Given the description of an element on the screen output the (x, y) to click on. 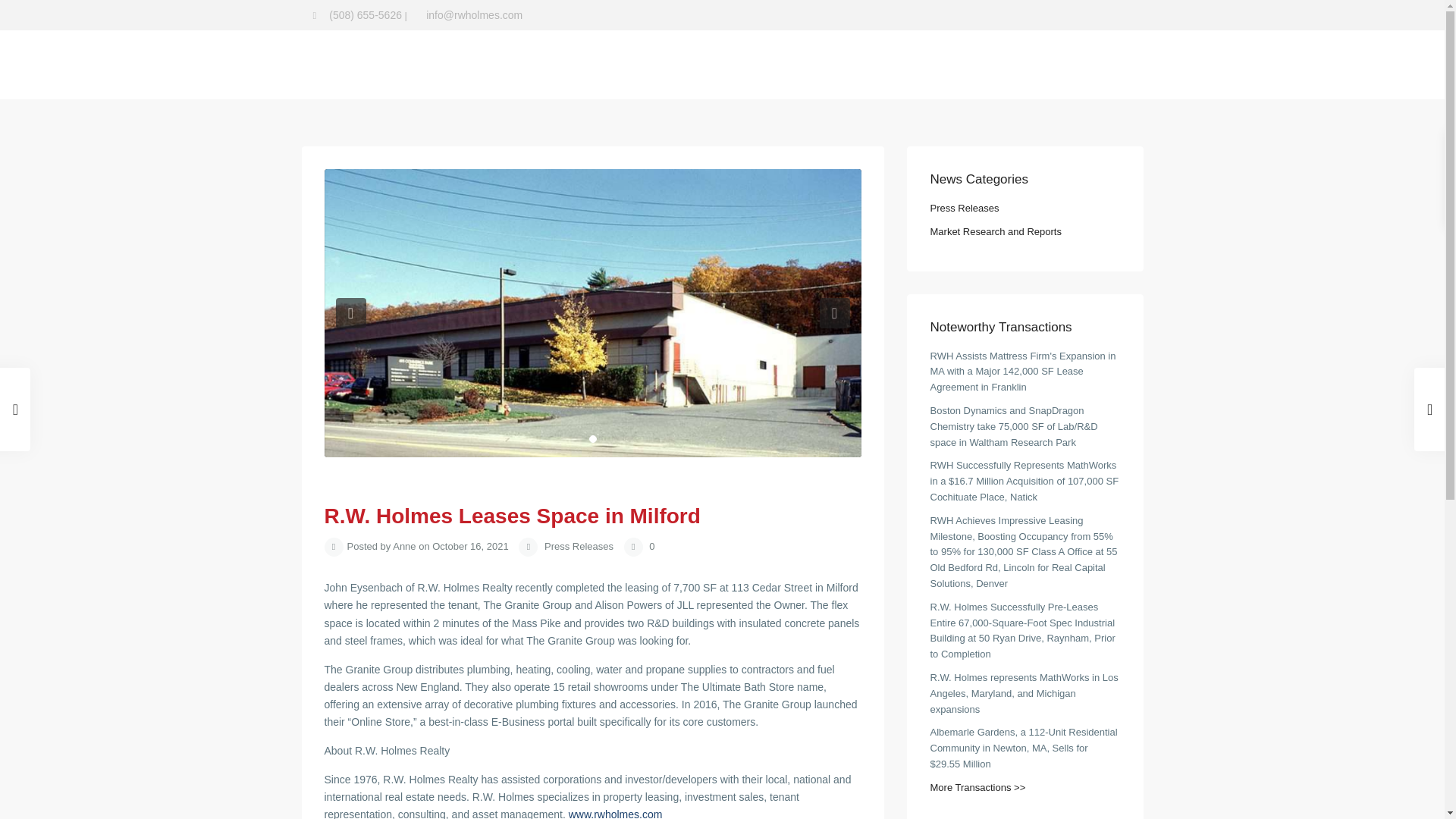
Home (521, 64)
Property Listings (655, 64)
Market Research and Reports (794, 64)
About (573, 64)
